Given the description of an element on the screen output the (x, y) to click on. 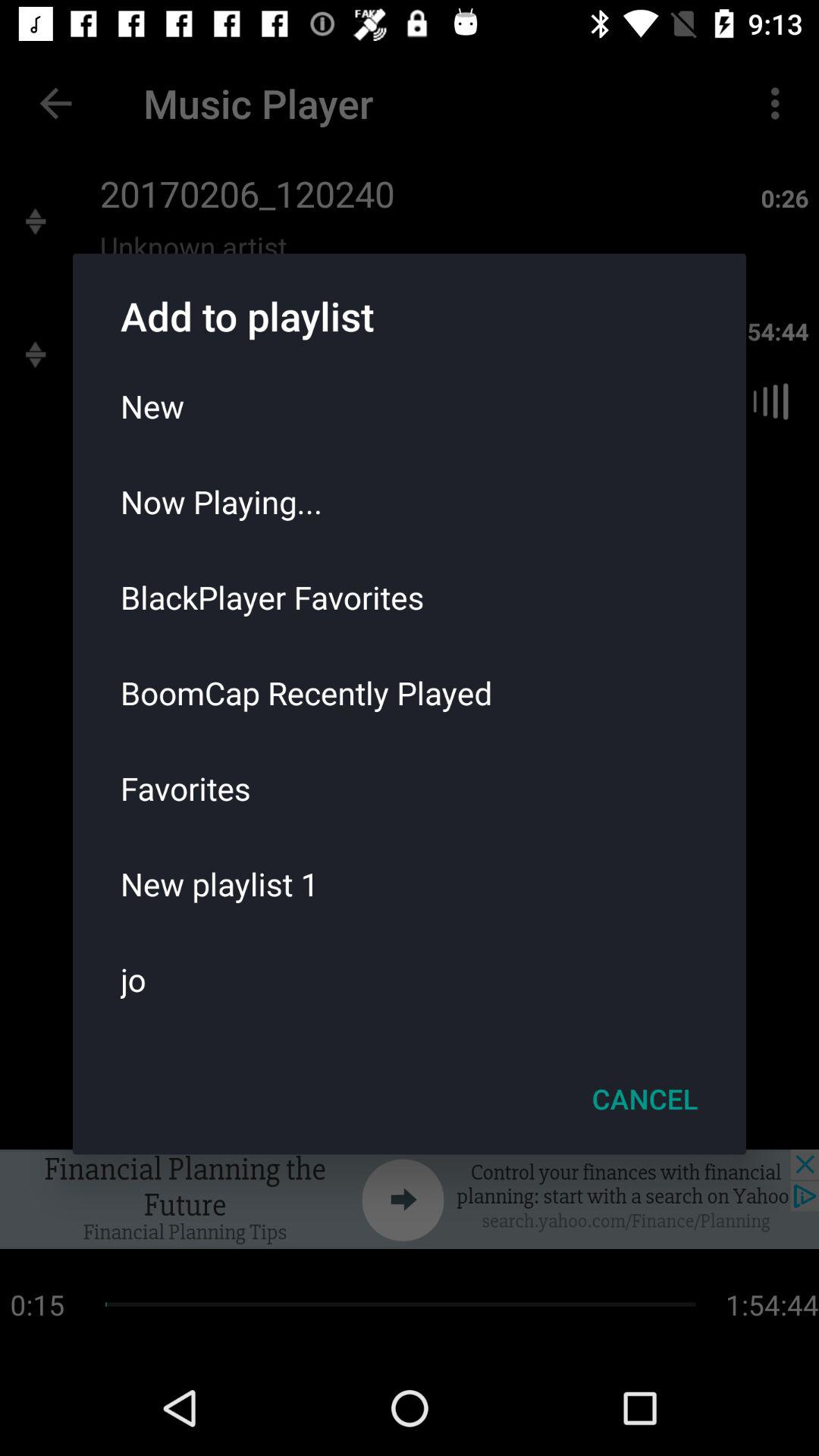
press item above the blackplayer favorites (409, 501)
